Given the description of an element on the screen output the (x, y) to click on. 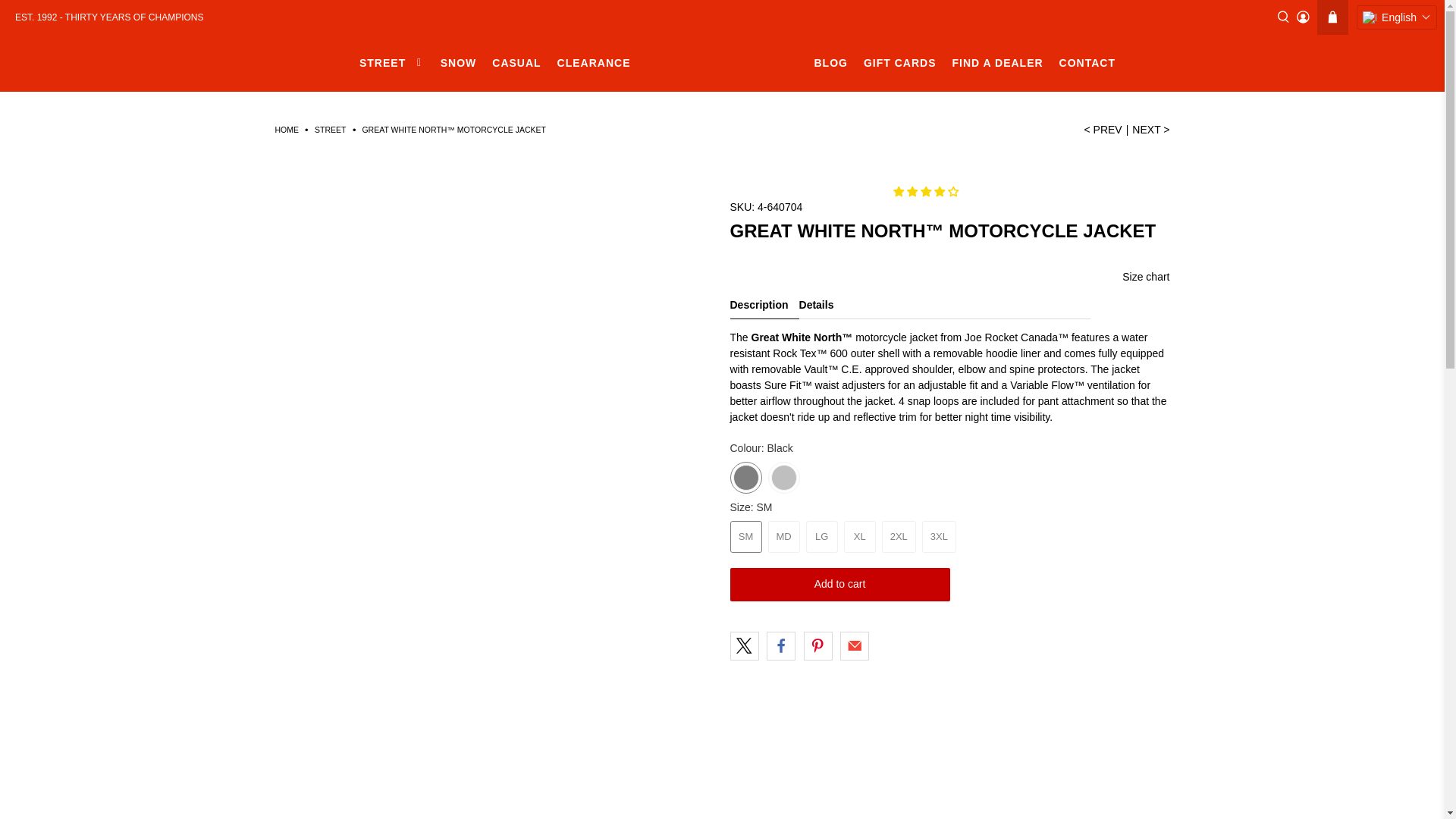
SNOW (458, 63)
GIFT CARDS (899, 63)
Street (330, 130)
Joe Rocket Canada (721, 62)
STREET (391, 63)
Share this on Pinterest (817, 645)
BLOG (831, 63)
CLEARANCE (593, 63)
Email this to a friend (854, 645)
CASUAL (516, 63)
CONTACT (1086, 63)
Share this on Facebook (780, 645)
Joe Rocket Canada (286, 130)
Share this on X (743, 645)
FIND A DEALER (997, 63)
